Given the description of an element on the screen output the (x, y) to click on. 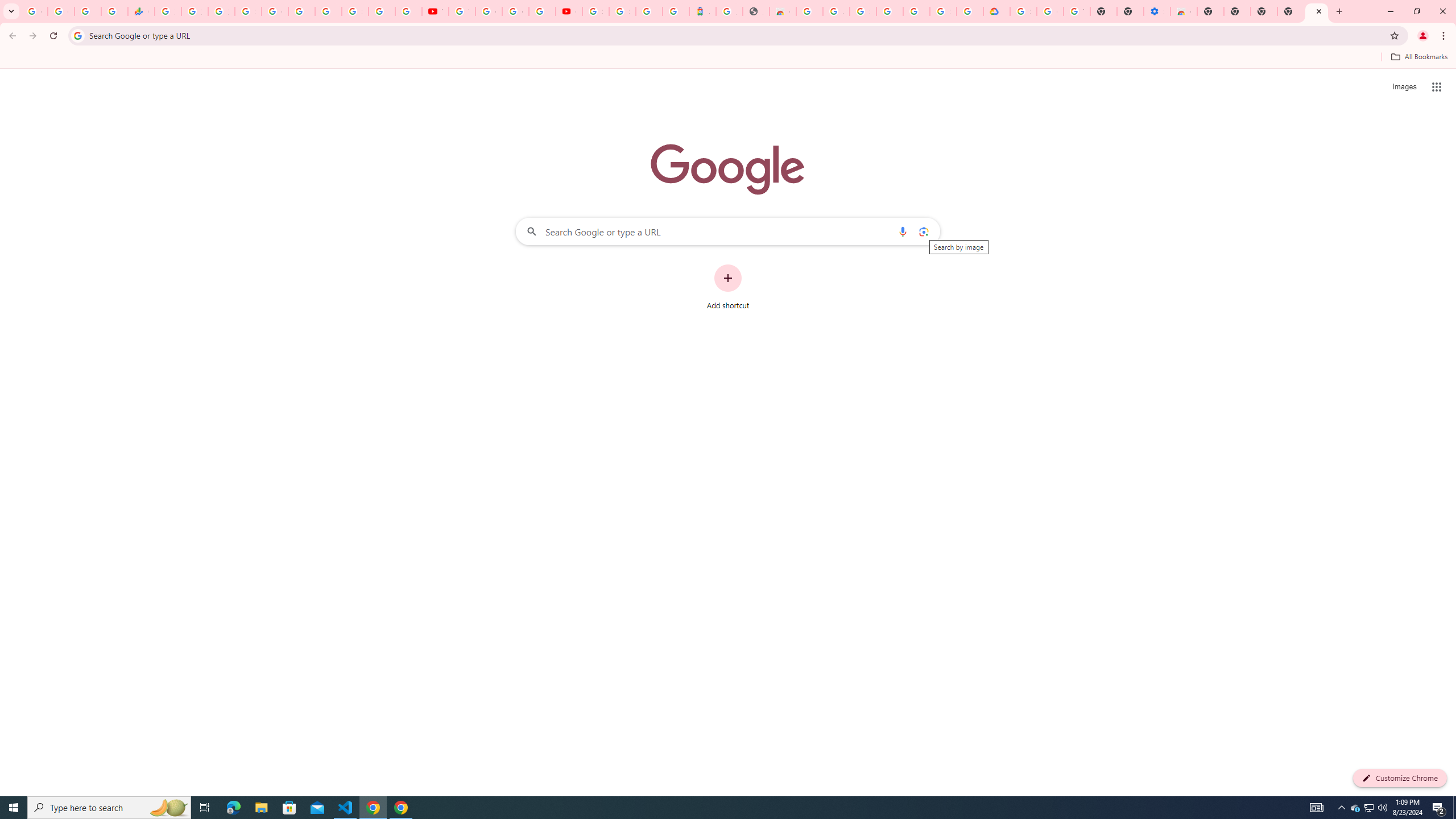
YouTube (435, 11)
Google Workspace Admin Community (34, 11)
Settings - Accessibility (1156, 11)
Sign in - Google Accounts (862, 11)
